Given the description of an element on the screen output the (x, y) to click on. 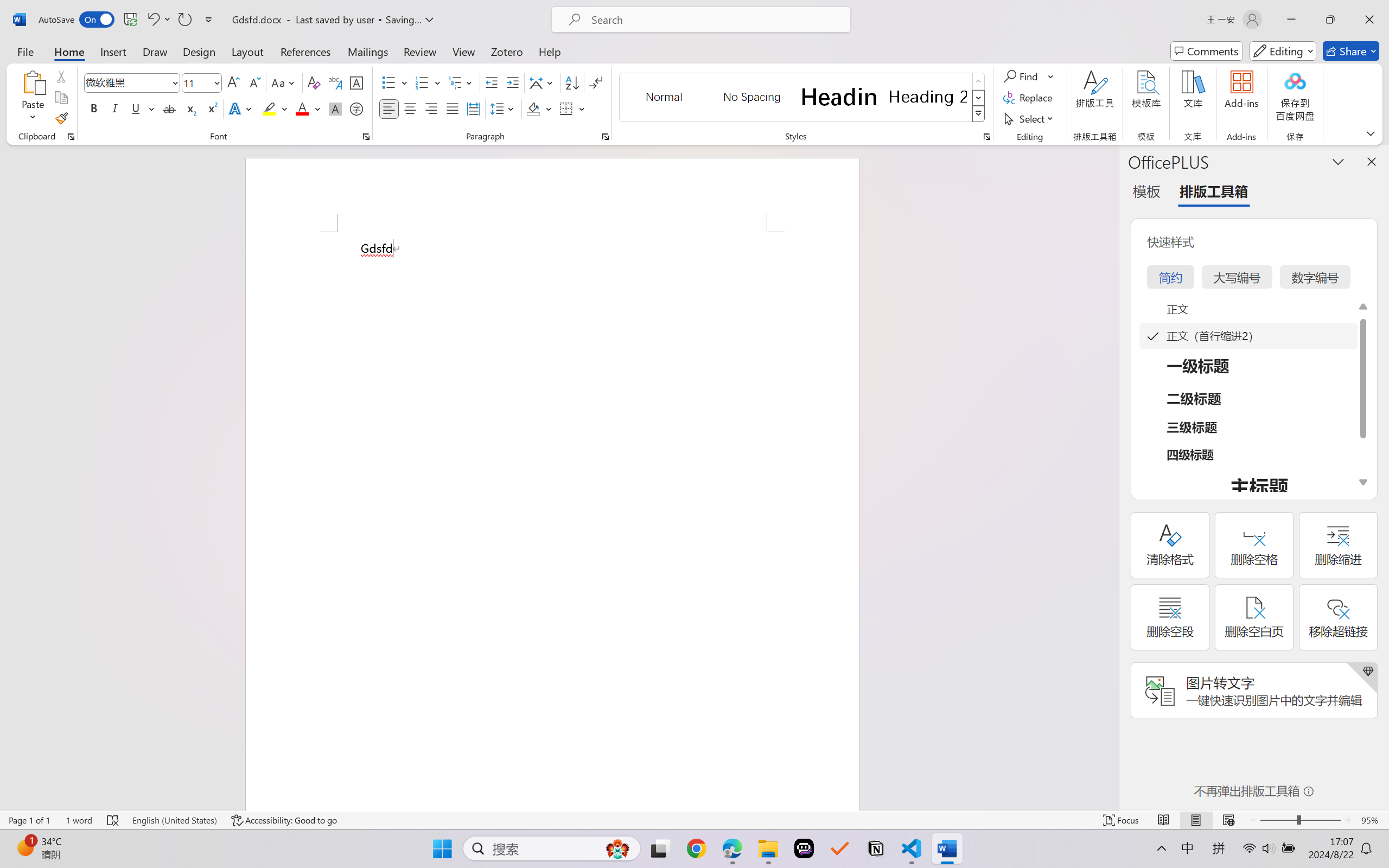
Undo <ApplyStyleToDoc>b__0 (158, 19)
Repeat Style (184, 19)
